Given the description of an element on the screen output the (x, y) to click on. 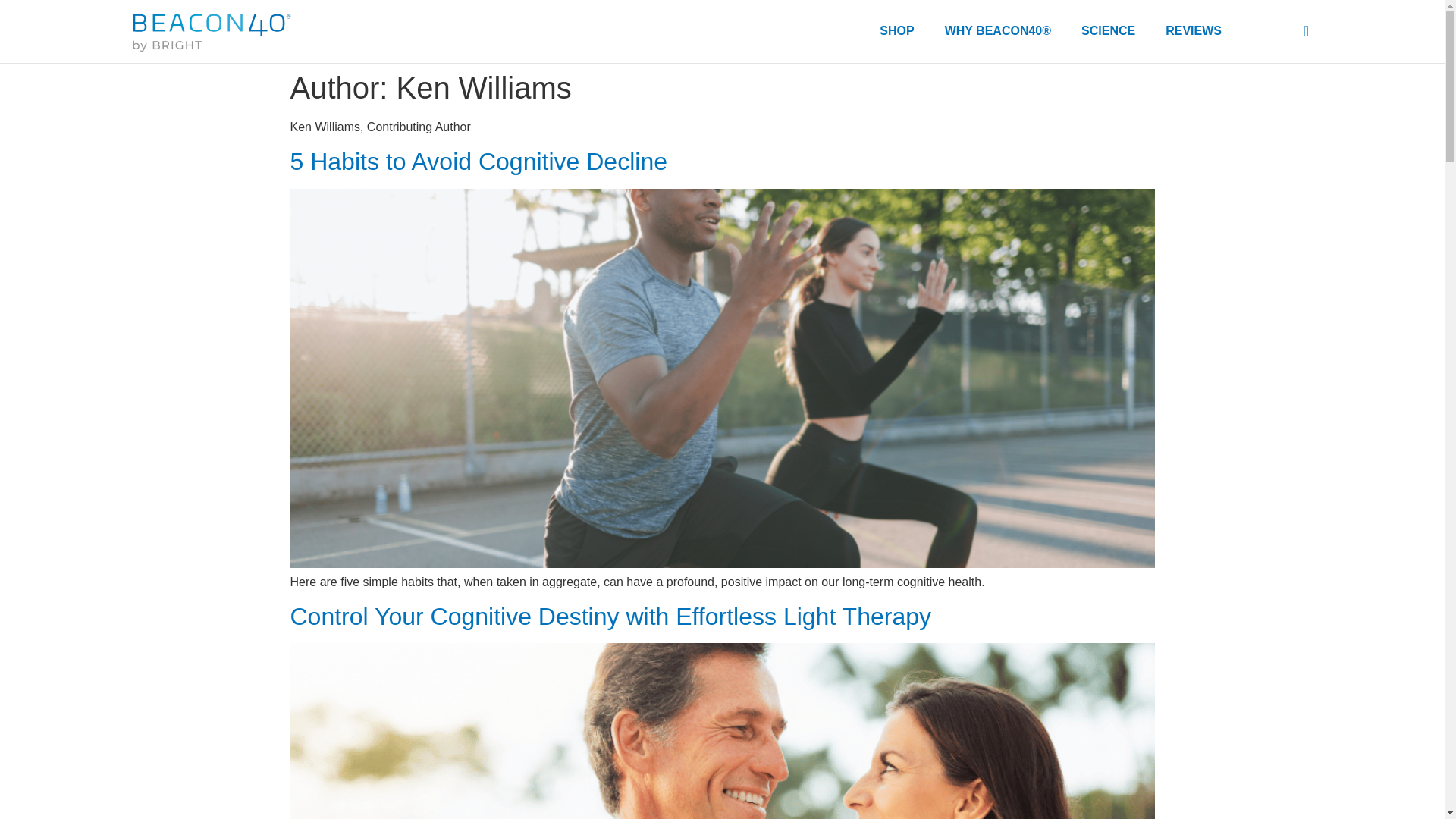
Control Your Cognitive Destiny with Effortless Light Therapy (609, 615)
REVIEWS (1193, 30)
SCIENCE (1107, 30)
SHOP (896, 30)
5 Habits to Avoid Cognitive Decline (477, 161)
